Given the description of an element on the screen output the (x, y) to click on. 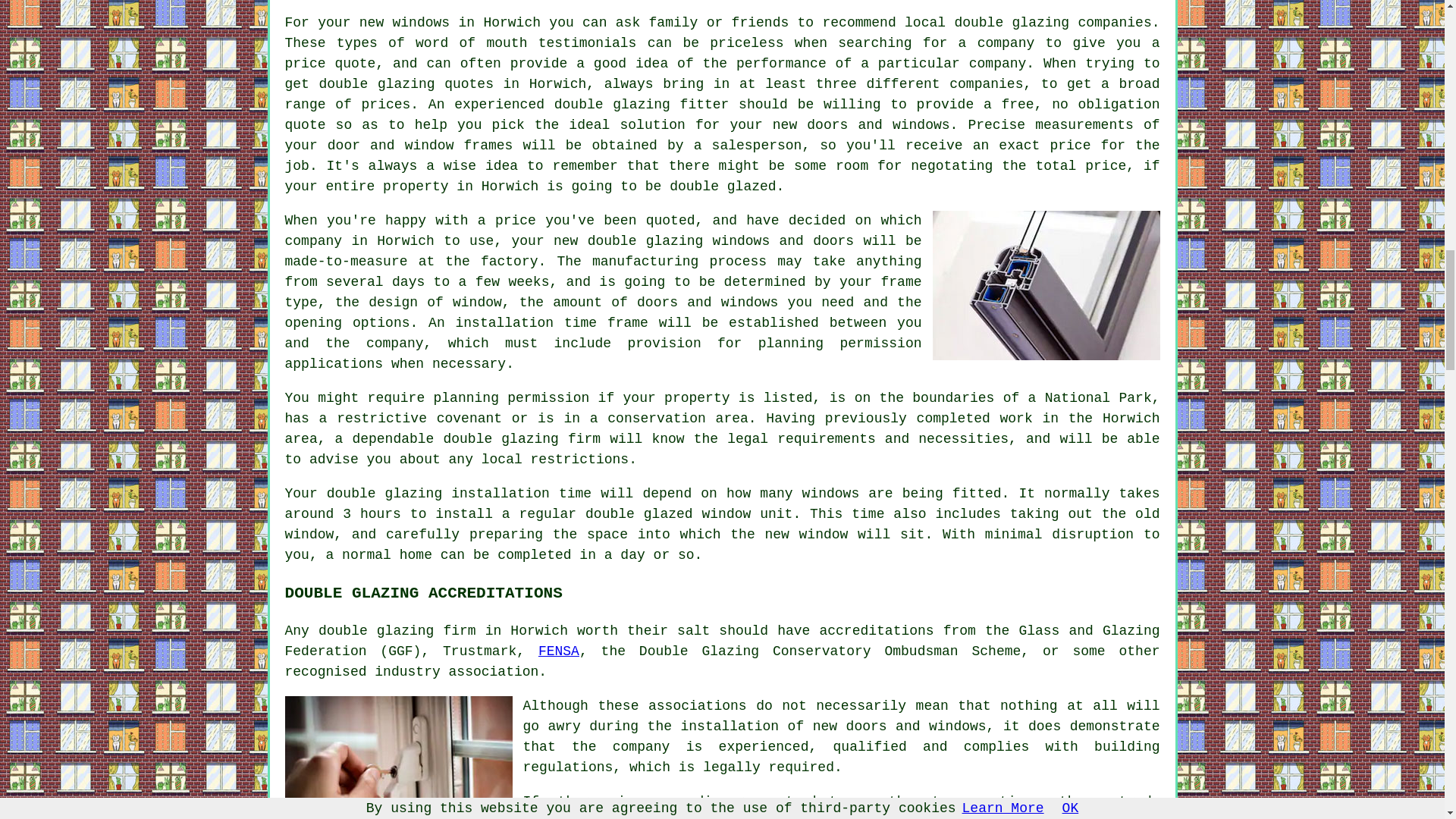
Double Glazed Windows Horwich Greater Manchester (1046, 285)
